Given the description of an element on the screen output the (x, y) to click on. 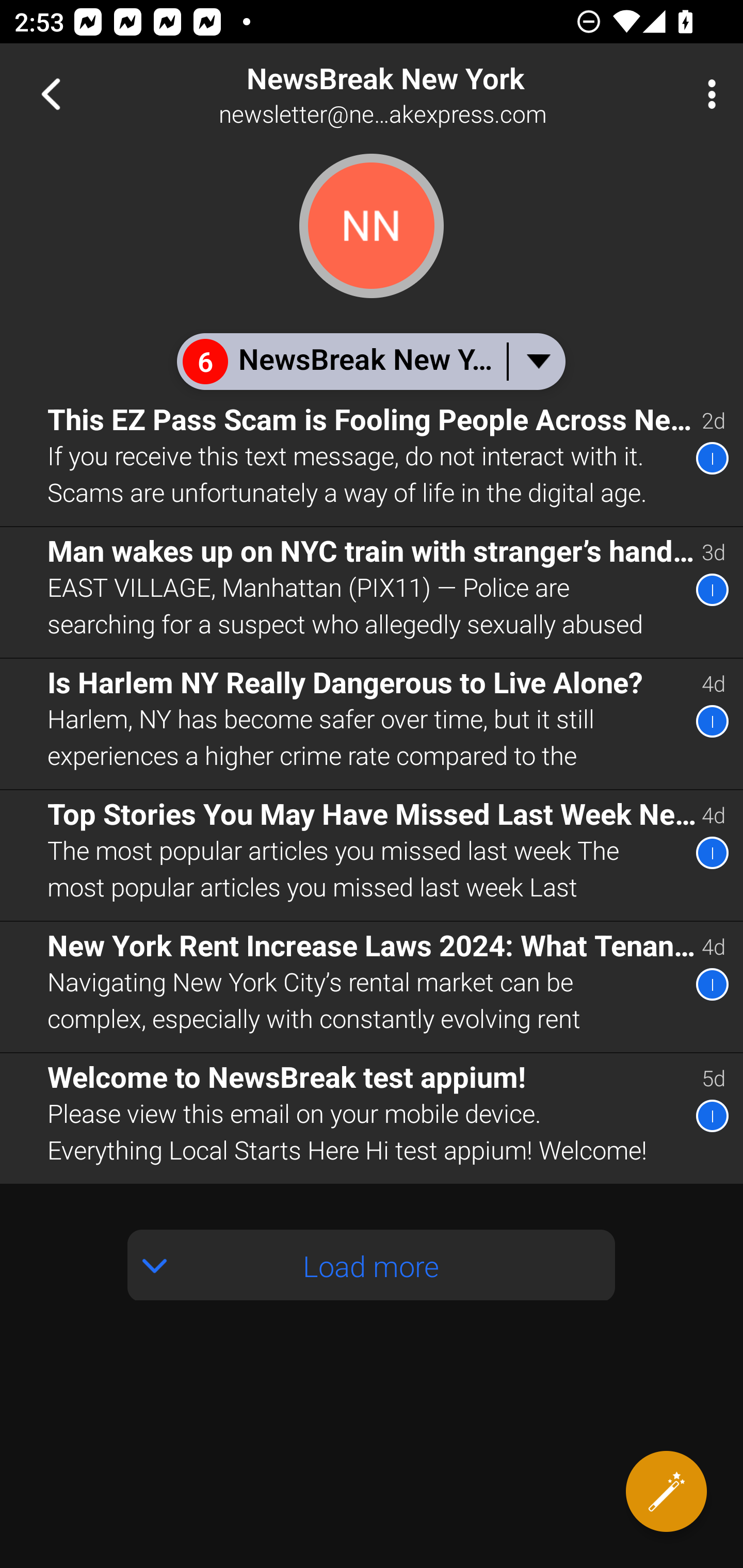
Navigate up (50, 93)
NewsBreak New York newsletter@newsbreakexpress.com (436, 93)
More Options (706, 93)
6 NewsBreak New York & You (370, 361)
Load more (371, 1264)
